Given the description of an element on the screen output the (x, y) to click on. 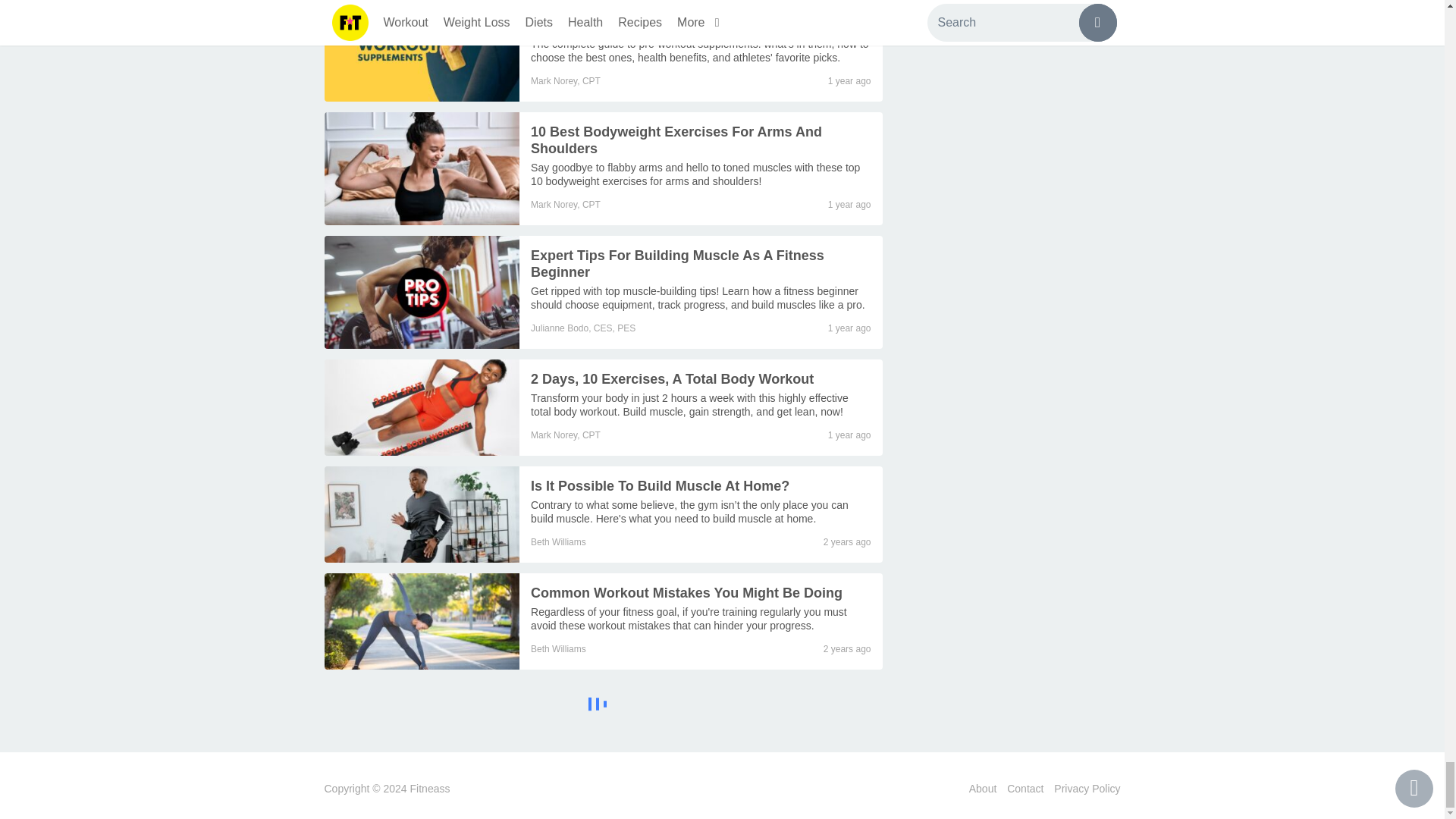
Searching for more related posts... (603, 706)
